Given the description of an element on the screen output the (x, y) to click on. 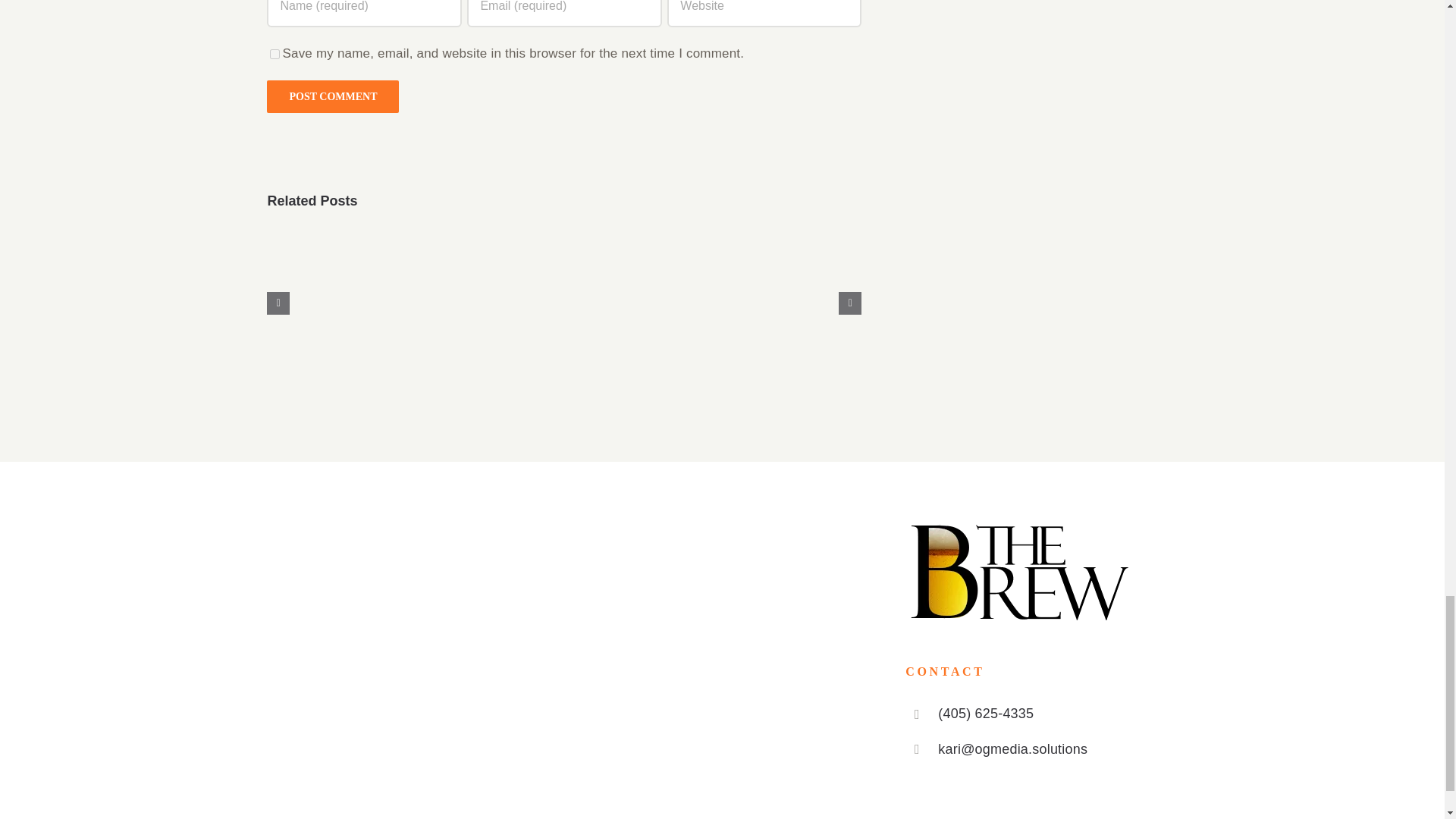
Post Comment (332, 96)
Post Comment (332, 96)
yes (274, 53)
